Given the description of an element on the screen output the (x, y) to click on. 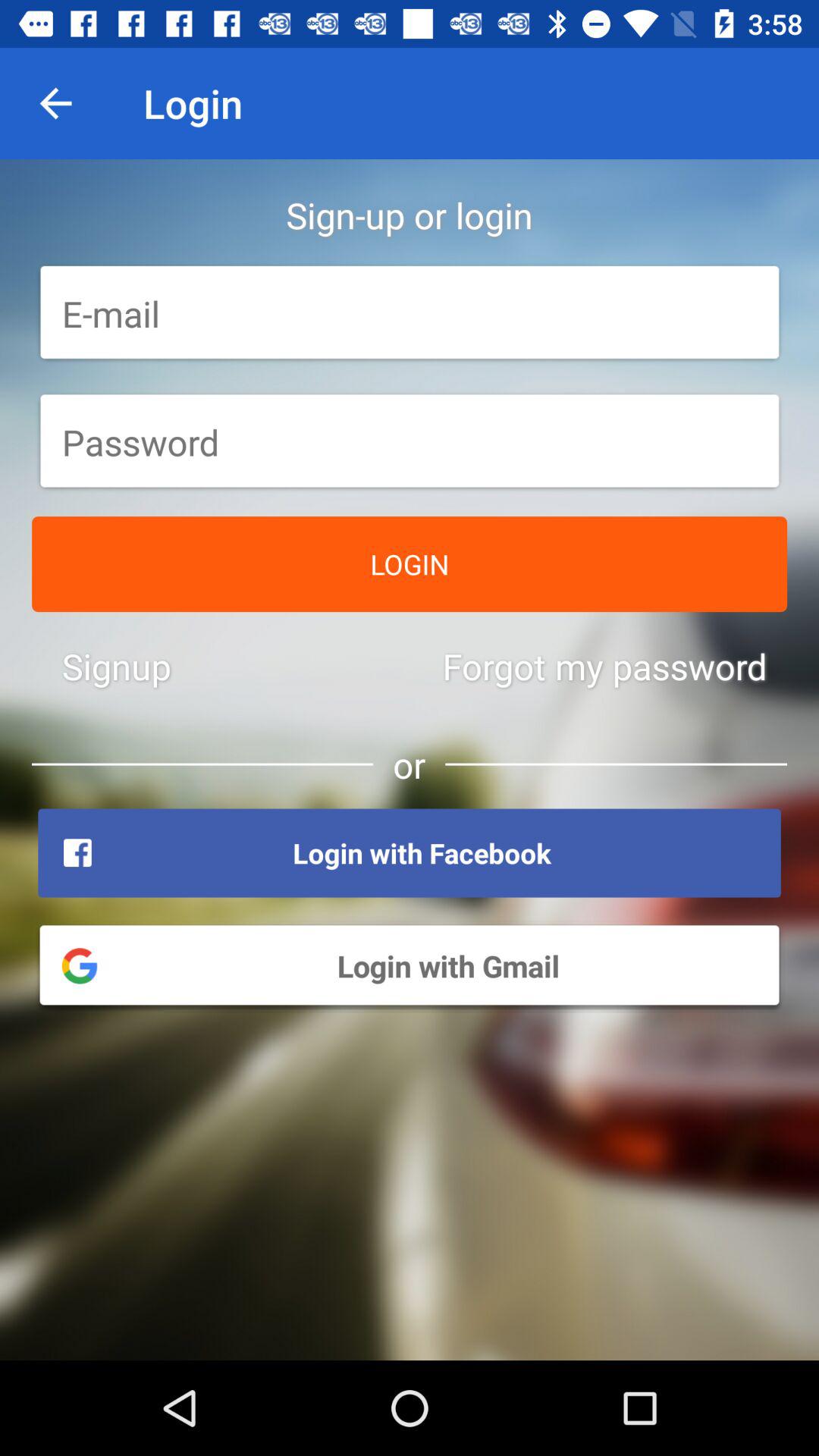
select the icon below the sign up or icon (409, 313)
